Given the description of an element on the screen output the (x, y) to click on. 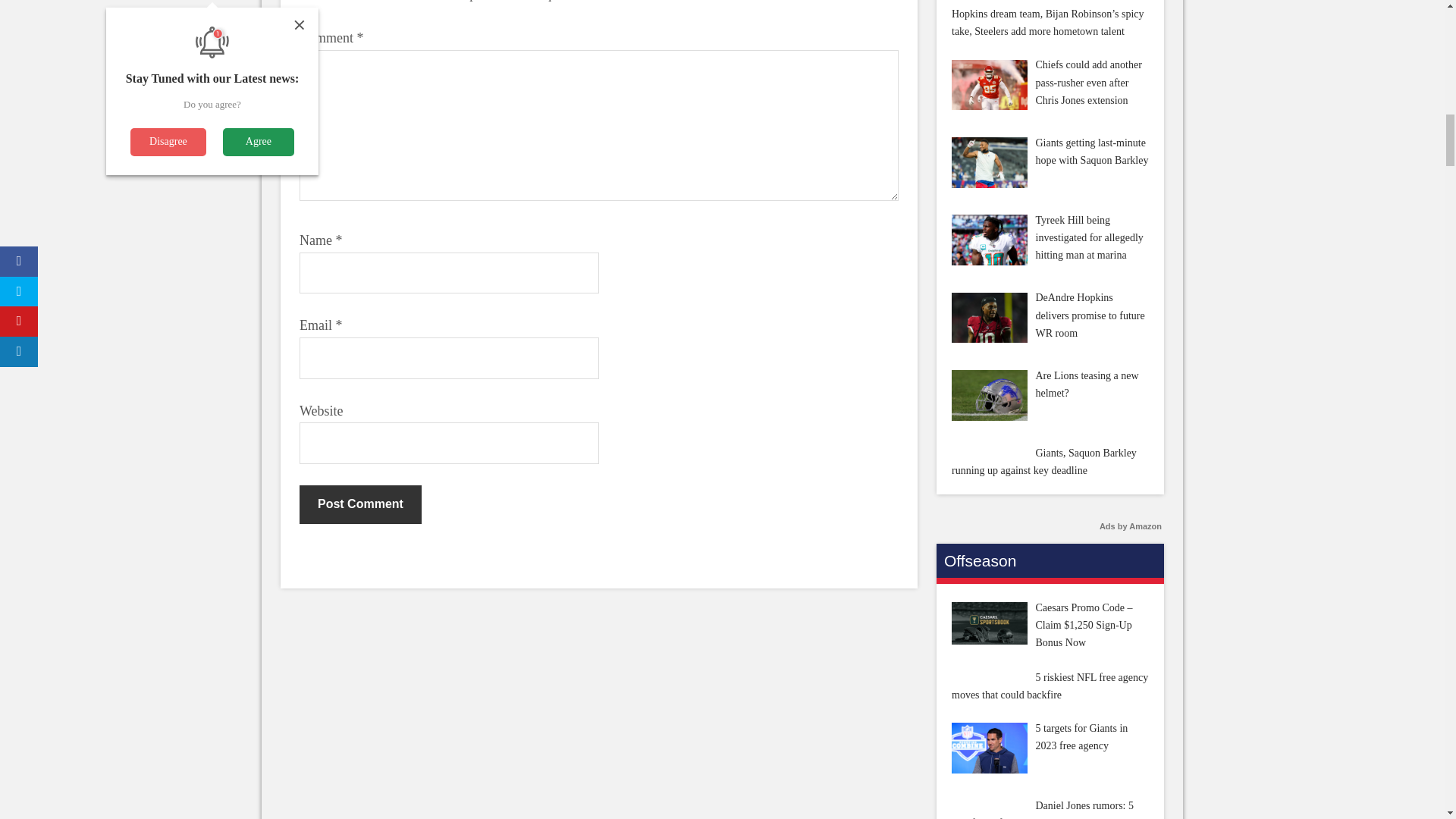
Post Comment (360, 504)
